Given the description of an element on the screen output the (x, y) to click on. 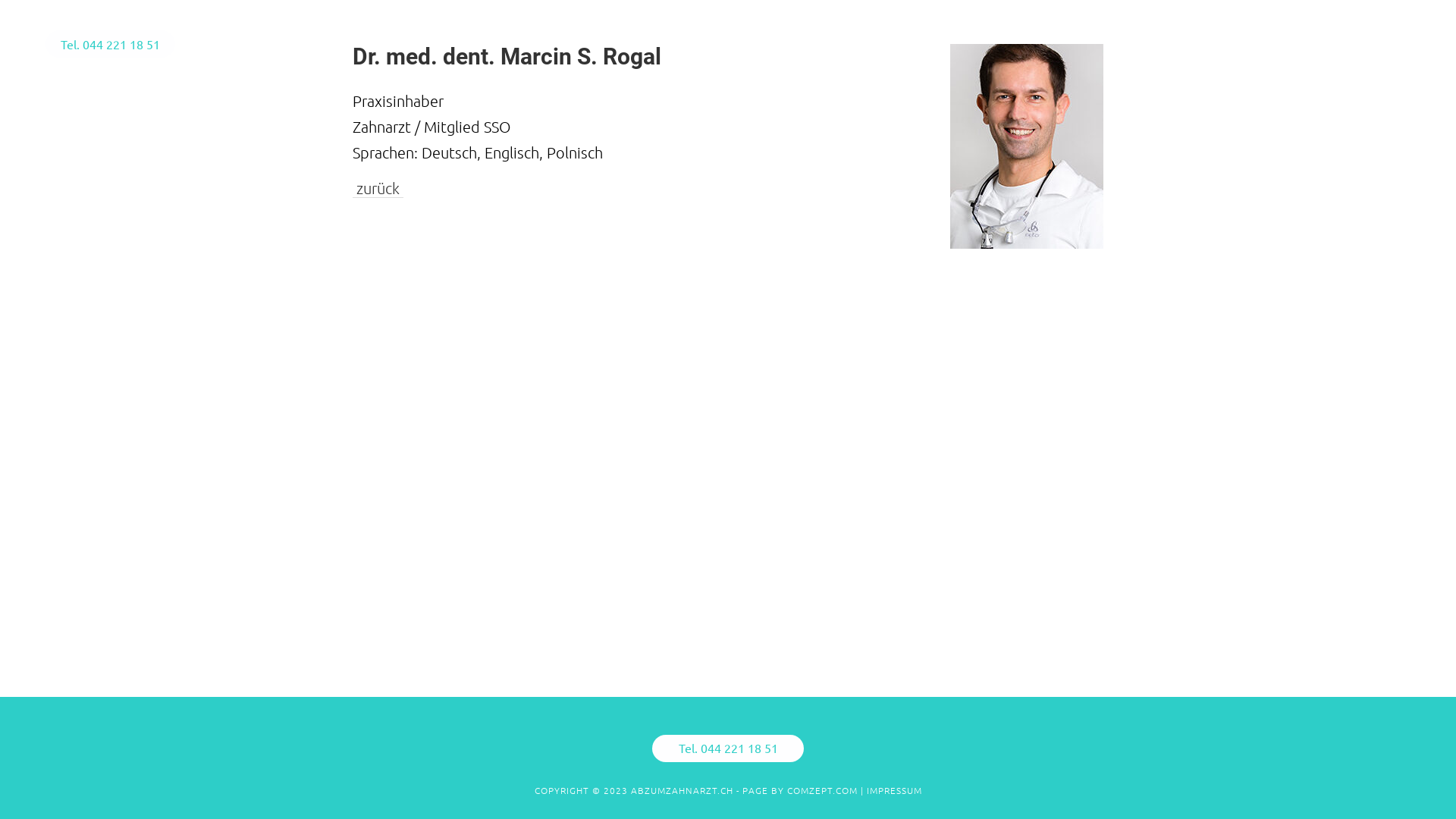
IMPRESSUM Element type: text (893, 790)
Dr. med. dent. Marcin S. Rogal Element type: text (506, 56)
COMZEPT.COM Element type: text (822, 790)
